Given the description of an element on the screen output the (x, y) to click on. 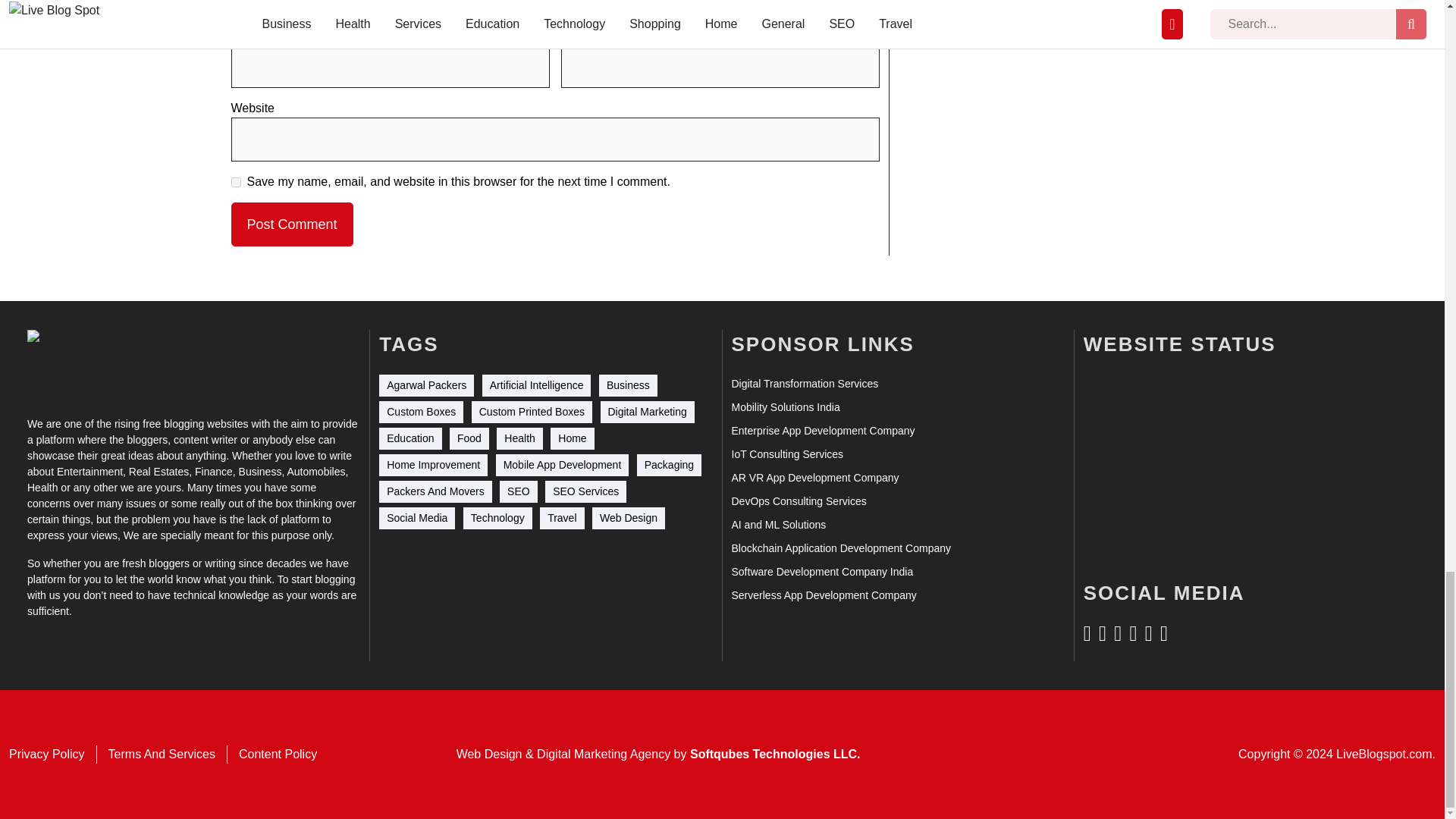
Post Comment (291, 224)
Digital Transformation Services (803, 383)
IoT Consulting Services (786, 454)
Mobility Solutions India (785, 407)
AR VR App Development Company (814, 478)
Live Blog Spot (81, 363)
Enterprise App Development Company (822, 430)
yes (235, 182)
Post Comment (291, 224)
